Given the description of an element on the screen output the (x, y) to click on. 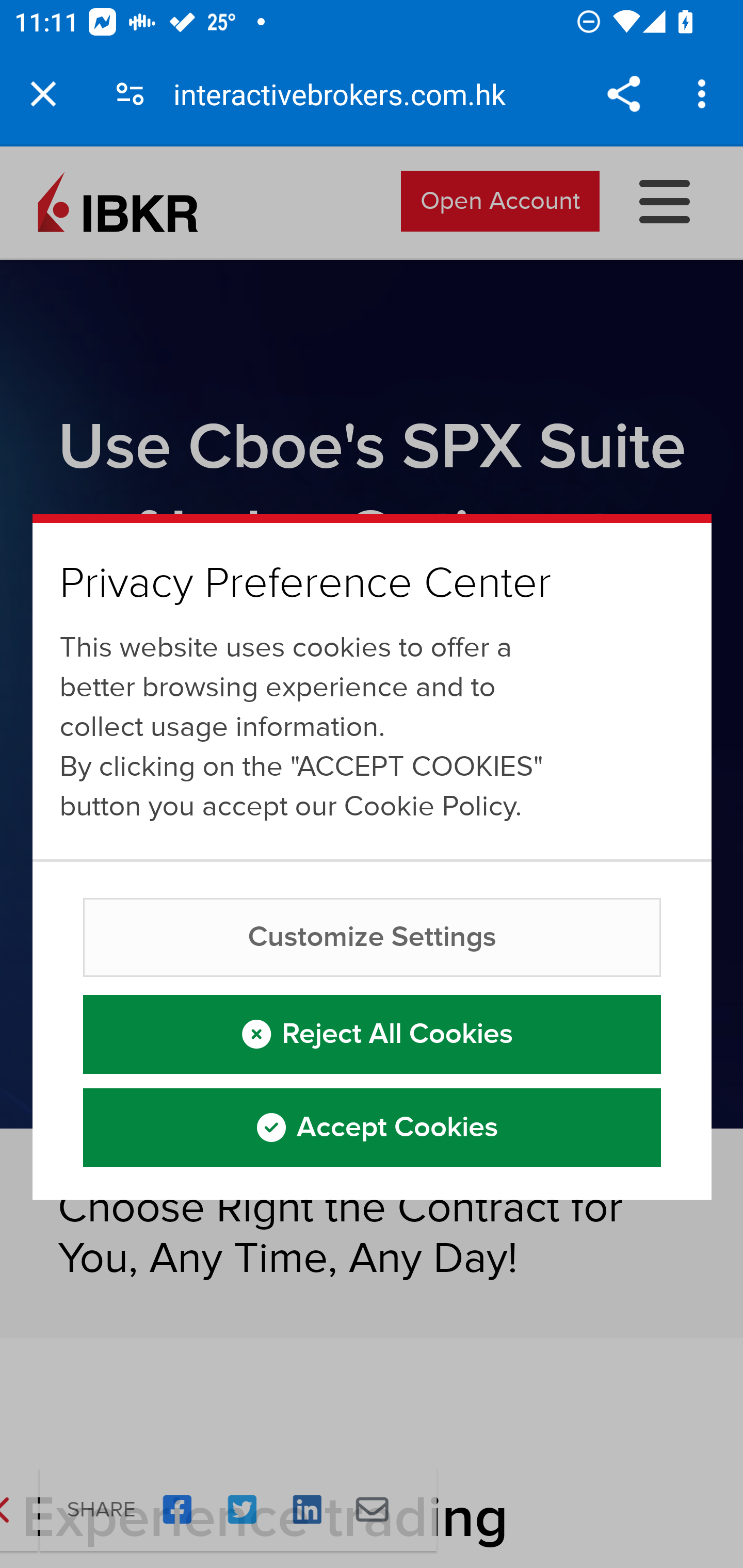
Customize Settings (372, 937)
 Reject All Cookies  Reject All Cookies (372, 1033)
 Accept Cookies  Accept Cookies (372, 1127)
